Given the description of an element on the screen output the (x, y) to click on. 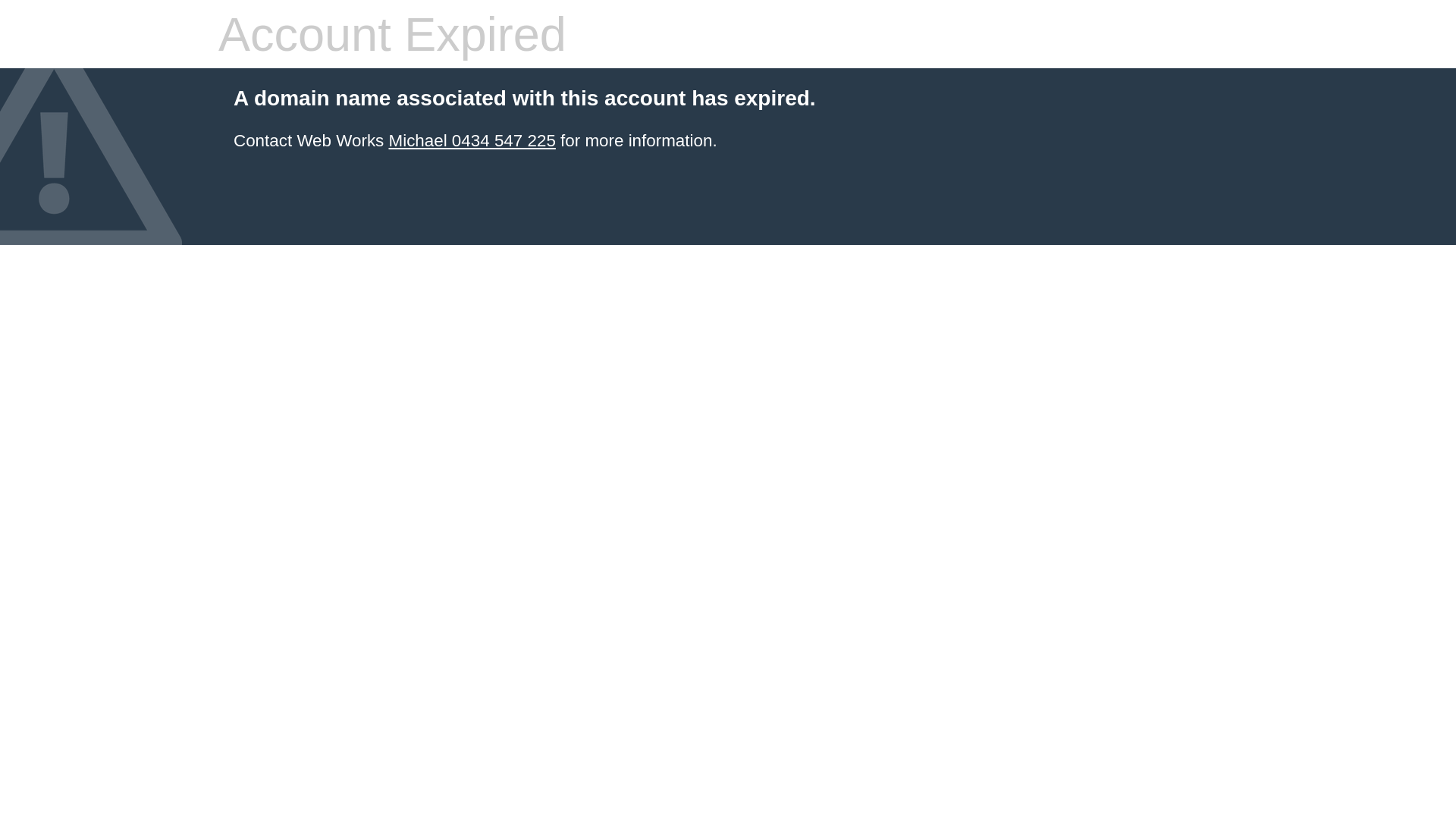
Michael 0434 547 225 Element type: text (471, 140)
